Given the description of an element on the screen output the (x, y) to click on. 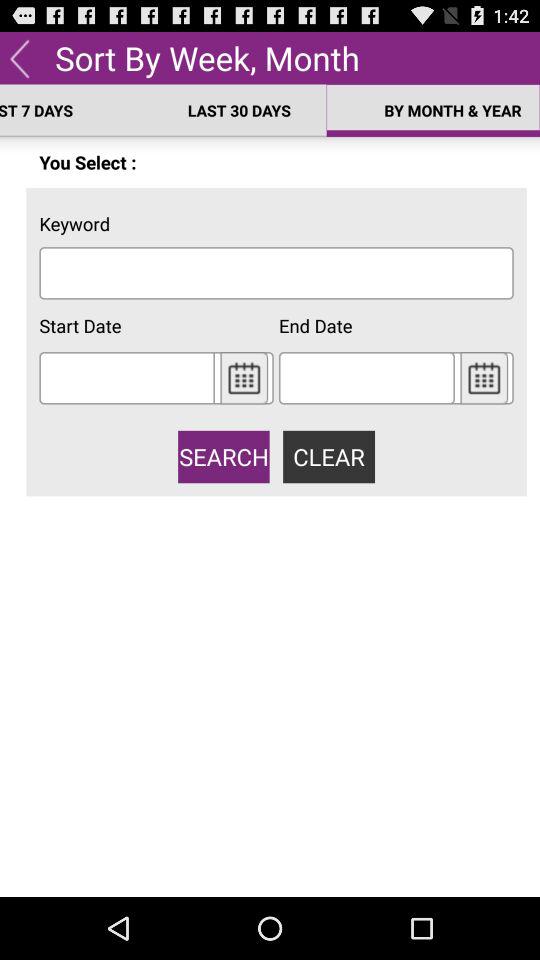
enter the start date (126, 377)
